Given the description of an element on the screen output the (x, y) to click on. 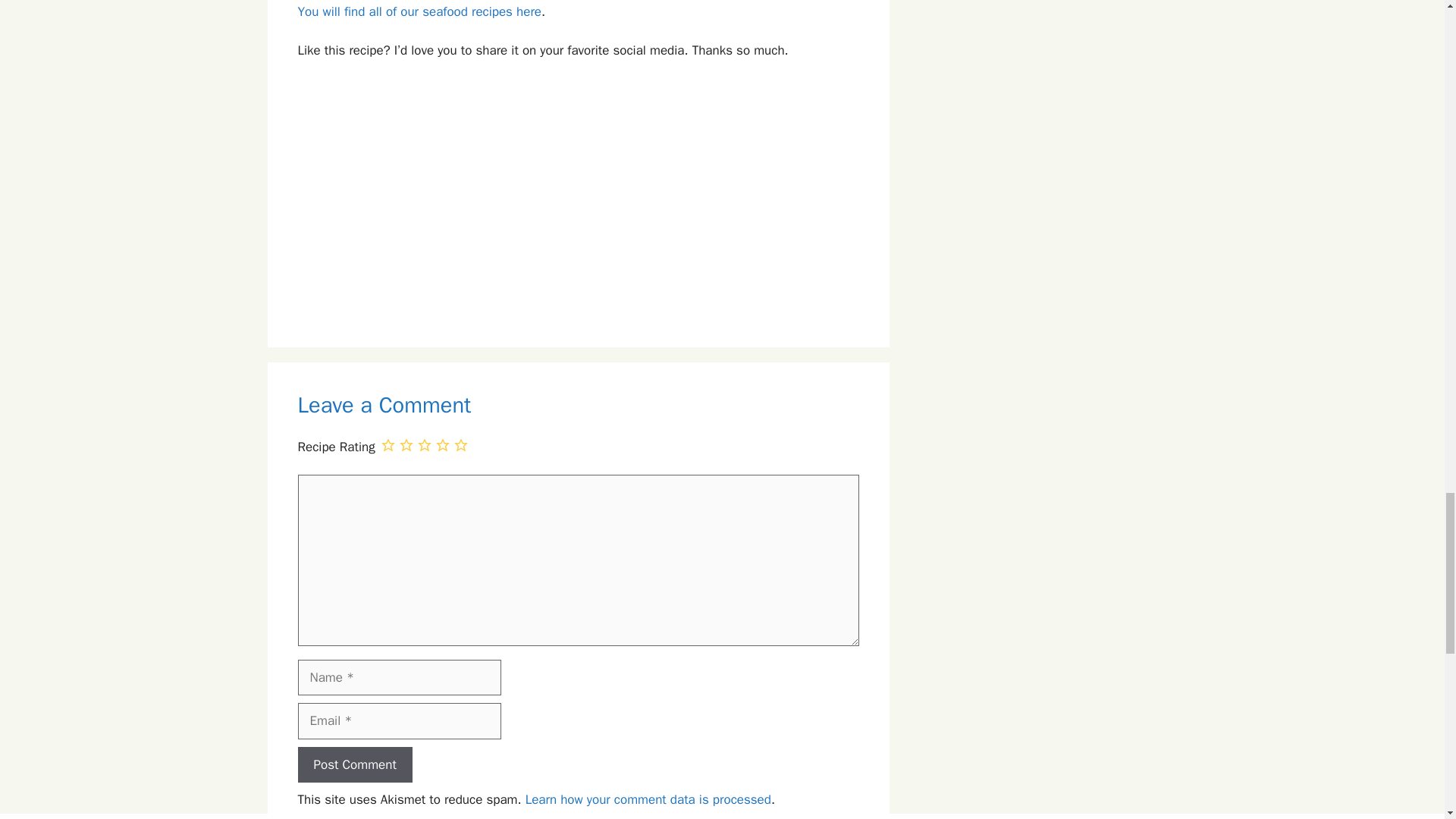
Post Comment (354, 764)
